Given the description of an element on the screen output the (x, y) to click on. 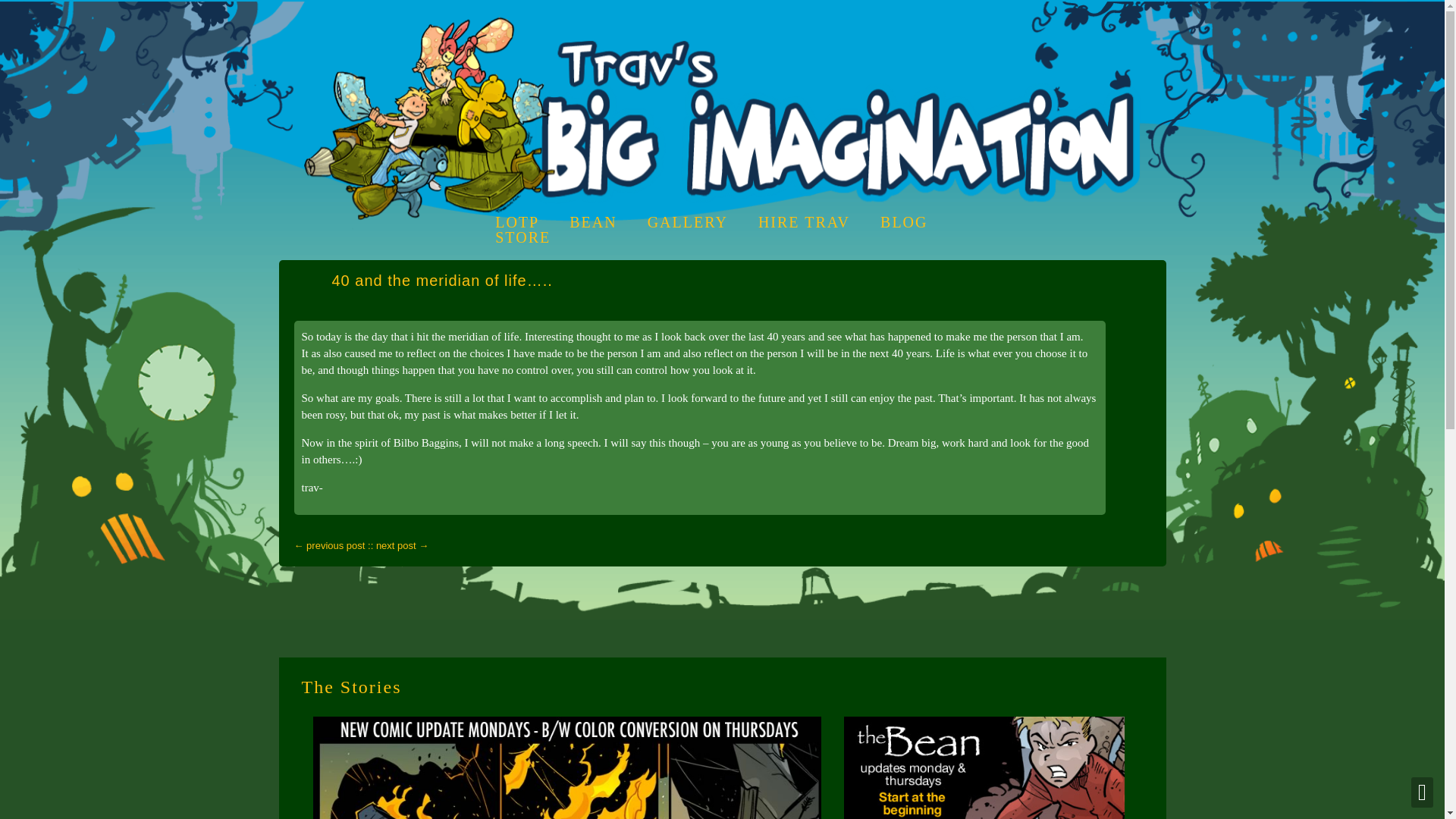
HIRE TRAV (804, 221)
STORE (522, 236)
BEAN (592, 221)
LOTP (516, 221)
BLOG (903, 221)
GALLERY (687, 221)
